Given the description of an element on the screen output the (x, y) to click on. 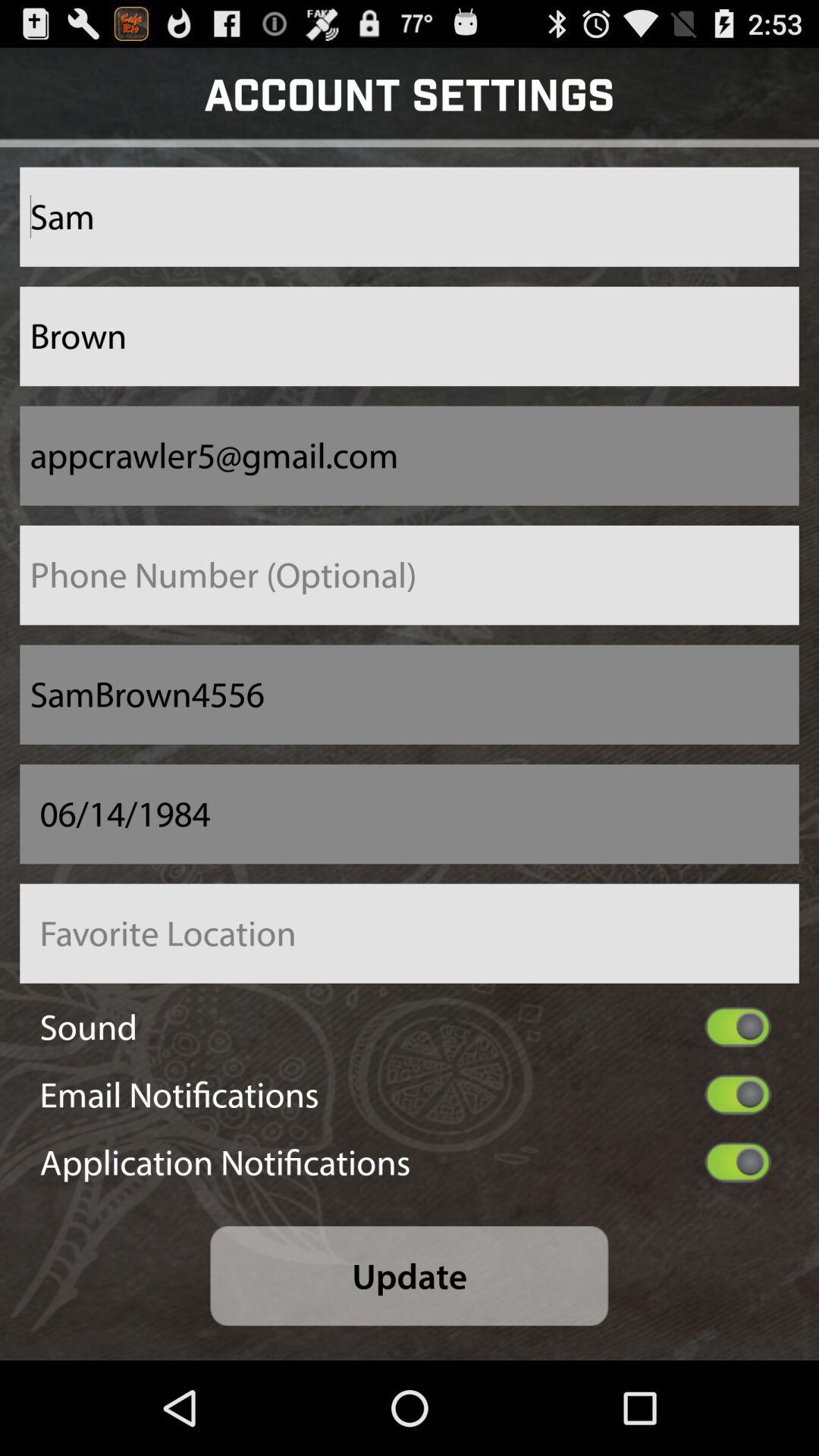
toggle application notification option (737, 1162)
